Given the description of an element on the screen output the (x, y) to click on. 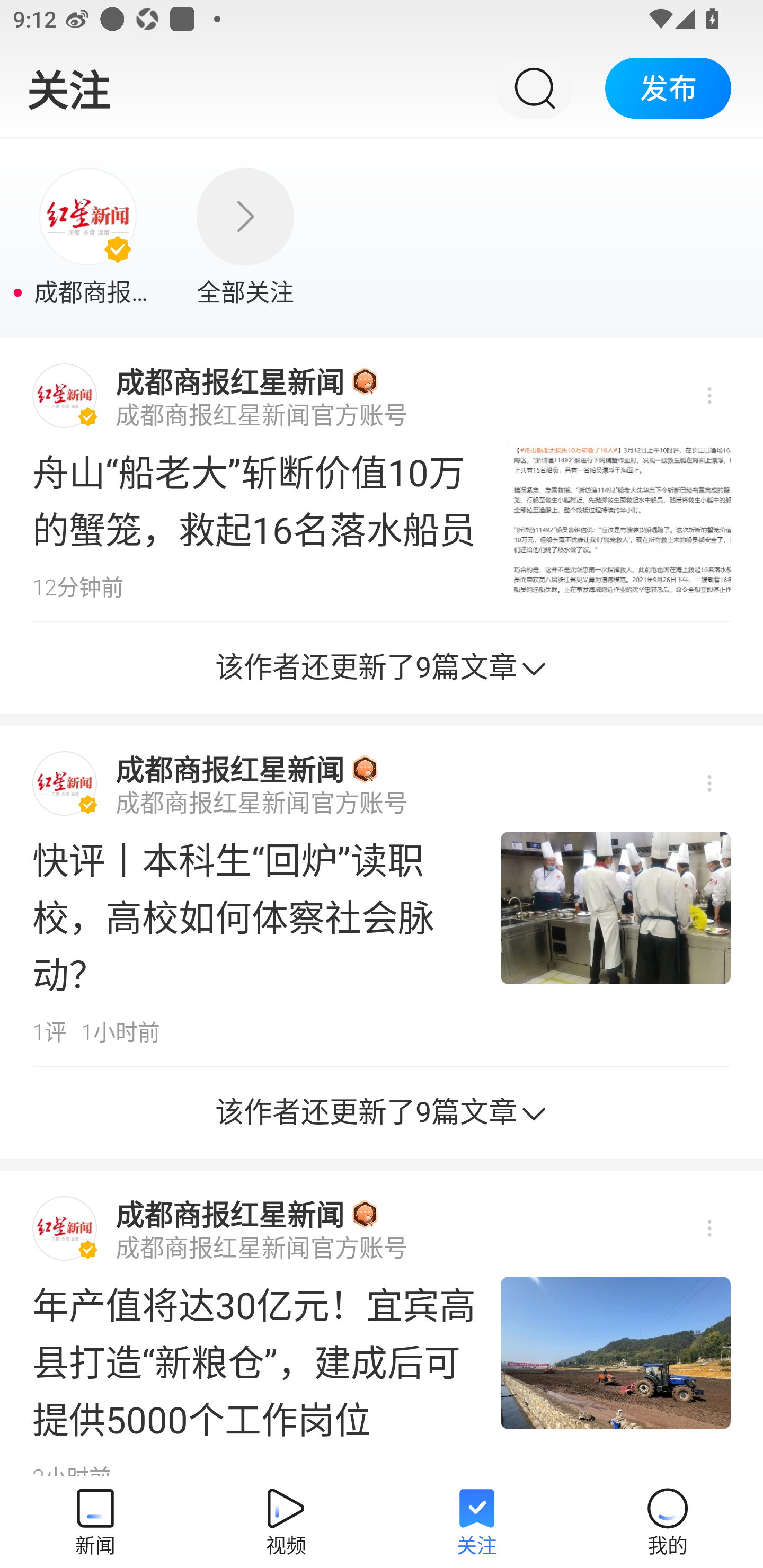
搜索 关注 (534, 87)
发布 关注 (667, 87)
关注 (67, 87)
成都商报红星新闻，可点击 (90, 237)
全部关注，可点击 (244, 237)
成都商报红星新闻 (229, 381)
勋章 (364, 380)
 不感兴趣 (707, 395)
成都商报红星新闻官方账号 (261, 415)
该作者还更新了9篇文章  (381, 667)
成都商报红星新闻 (229, 768)
勋章 (364, 769)
 不感兴趣 (707, 782)
成都商报红星新闻官方账号 (261, 802)
该作者还更新了9篇文章  (381, 1112)
成都商报红星新闻 (229, 1214)
勋章 (364, 1213)
 不感兴趣 (707, 1228)
成都商报红星新闻官方账号 (261, 1248)
